Given the description of an element on the screen output the (x, y) to click on. 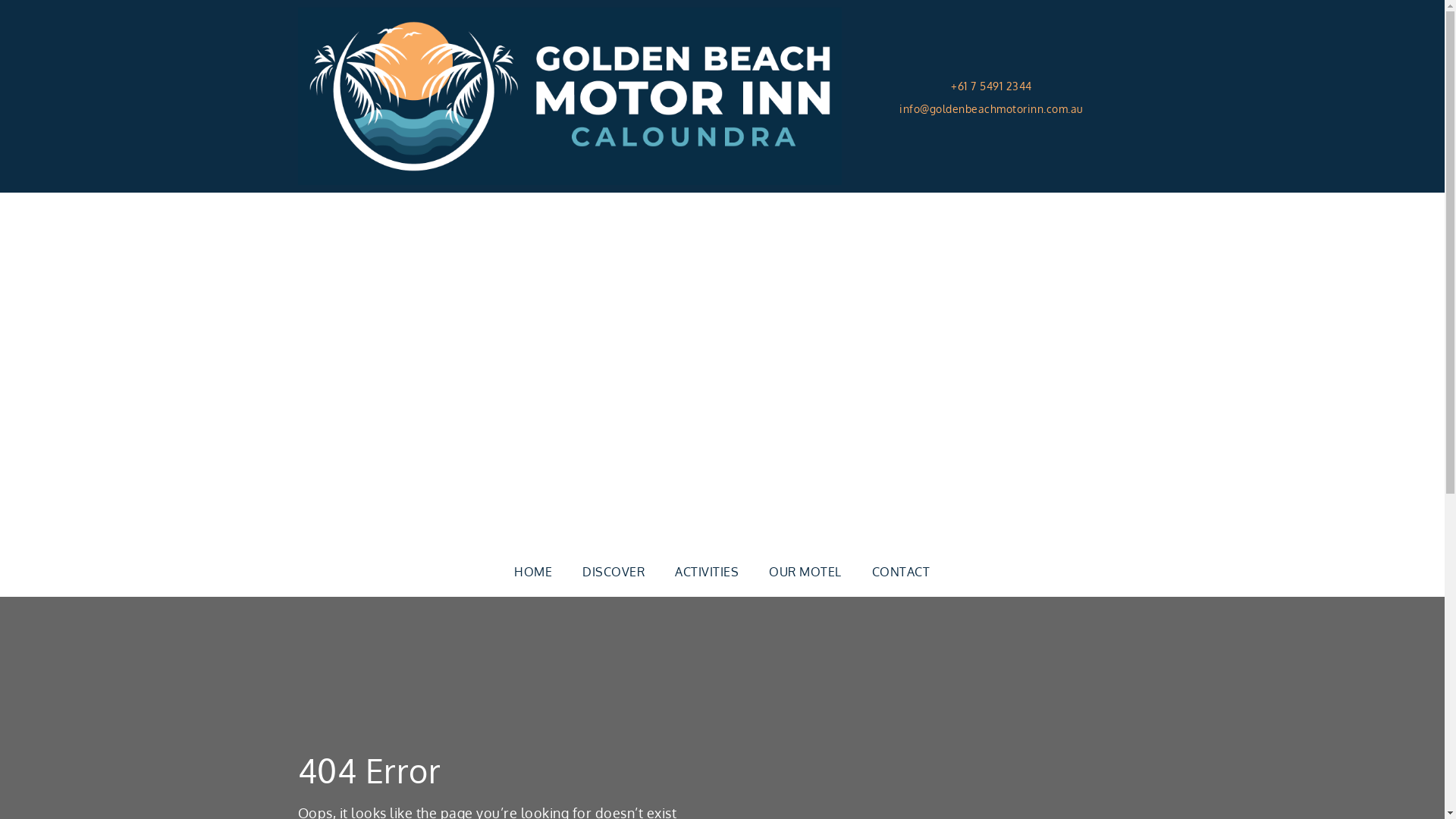
CONTACT Element type: text (900, 571)
OUR MOTEL Element type: text (804, 571)
ACTIVITIES Element type: text (706, 571)
info@goldenbeachmotorinn.com.au Element type: text (991, 108)
HOME Element type: text (532, 571)
DISCOVER Element type: text (613, 571)
+61 7 5491 2344 Element type: text (991, 86)
